Given the description of an element on the screen output the (x, y) to click on. 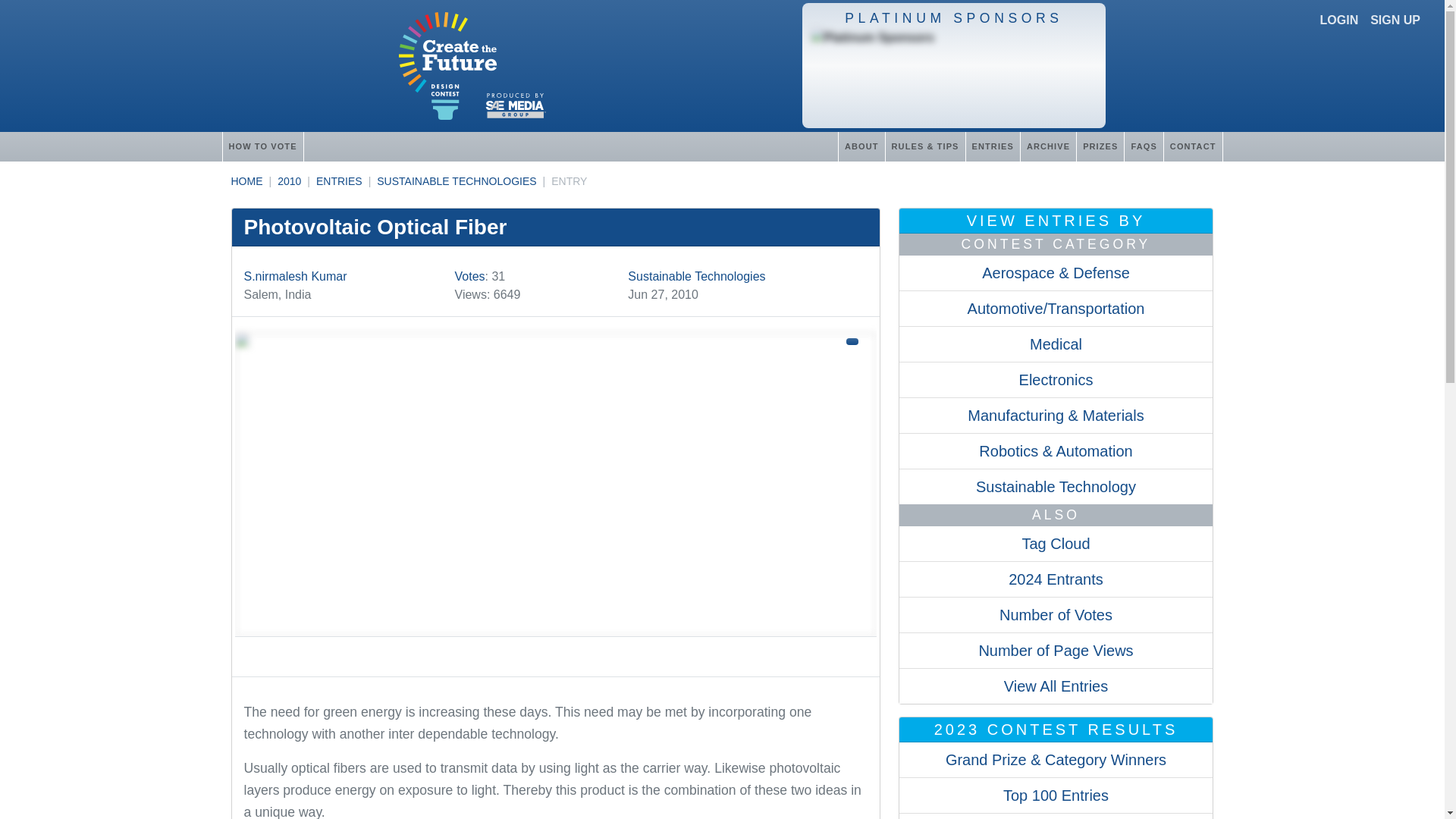
HOME (246, 181)
Goto slide (555, 650)
FAQS (1142, 146)
PRIZES (1099, 146)
2010 (289, 181)
ABOUT (861, 146)
HOW TO VOTE (261, 146)
CONTACT (1193, 146)
LOGIN (1339, 20)
ENTRIES (338, 181)
